Given the description of an element on the screen output the (x, y) to click on. 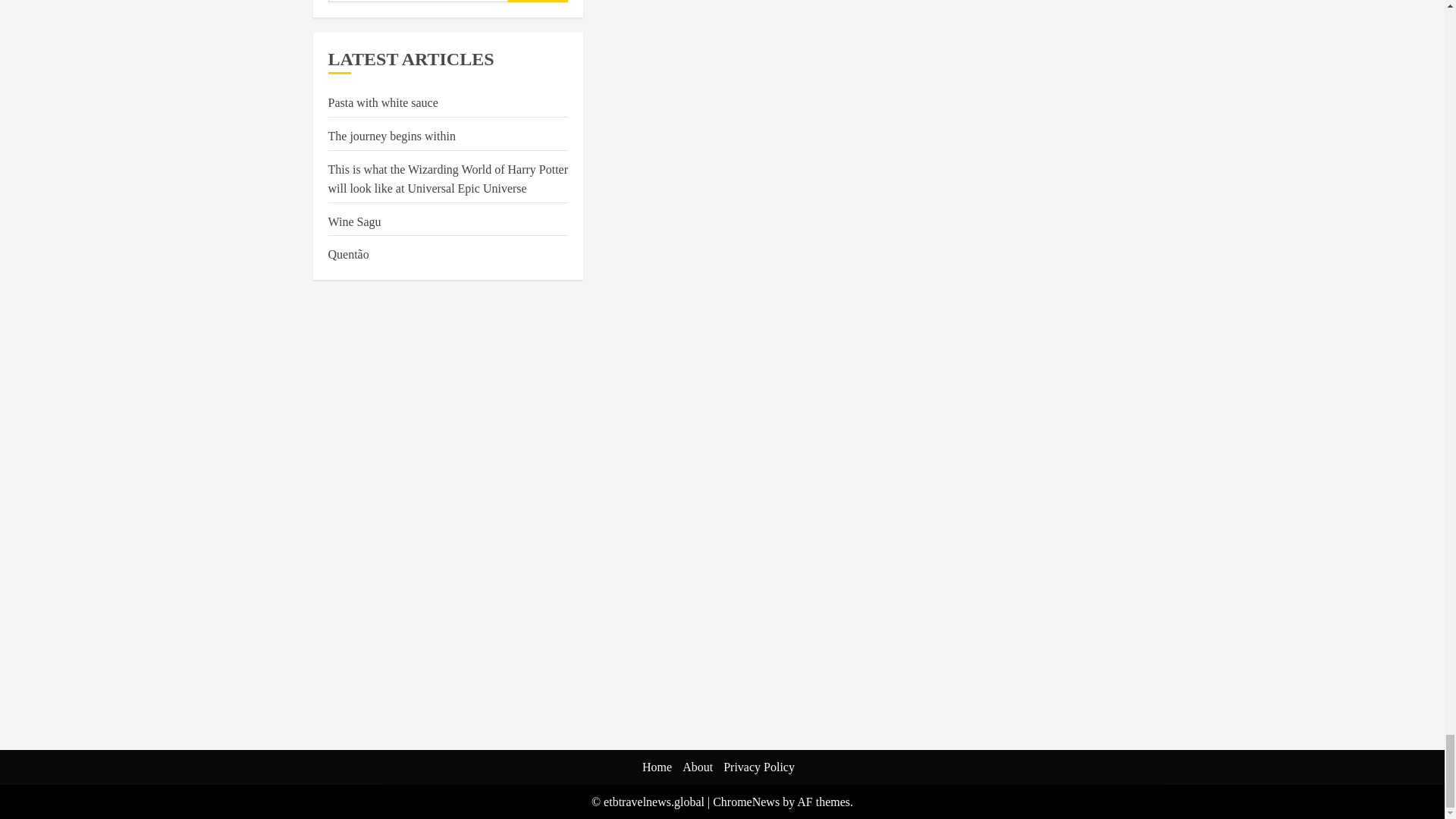
The journey begins within (390, 136)
About (697, 766)
Pasta with white sauce (382, 102)
ChromeNews (745, 801)
Privacy Policy (758, 766)
SEARCH (537, 1)
Wine Sagu (353, 222)
Home (656, 766)
